Given the description of an element on the screen output the (x, y) to click on. 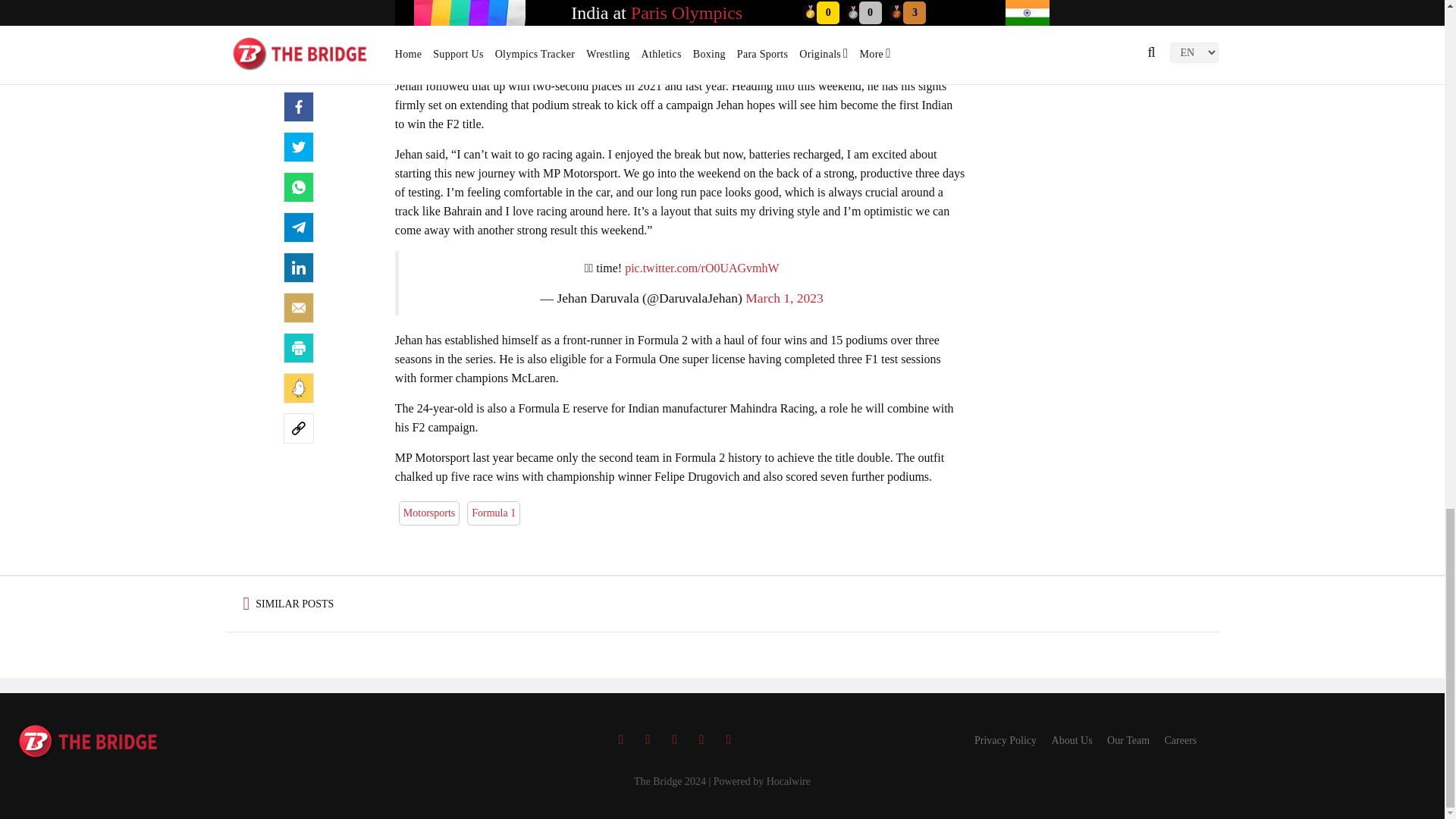
LinkedIn (298, 267)
Share by Email (298, 307)
